Given the description of an element on the screen output the (x, y) to click on. 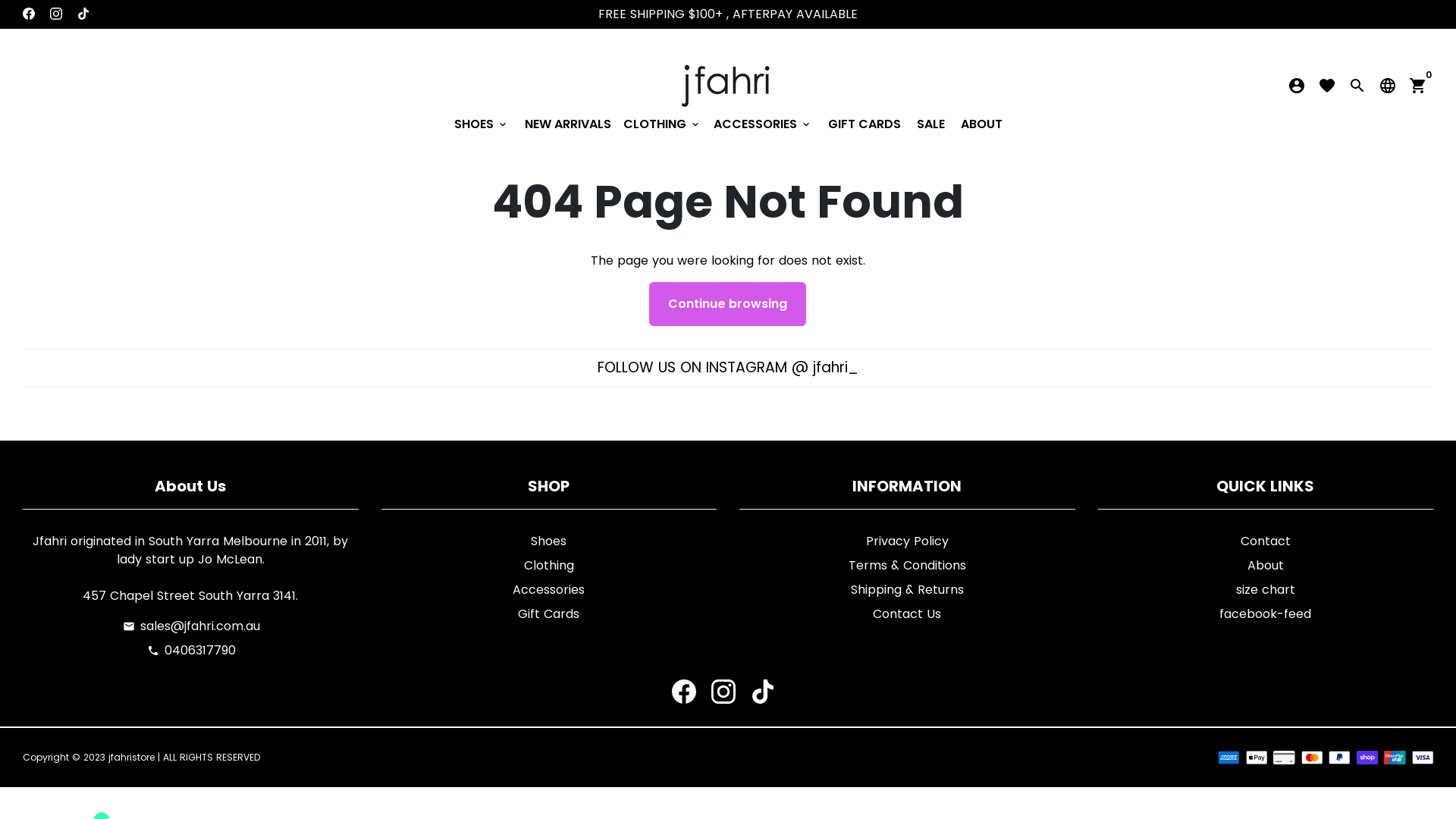
Terms & Conditions Element type: text (907, 565)
size chart Element type: text (1265, 589)
NEW ARRIVALS Element type: text (567, 124)
jfahristore on Tiktok Element type: hover (762, 691)
SHOES keyboard_arrow_down Element type: text (480, 124)
jfahristore Element type: text (131, 756)
Clothing Element type: text (549, 565)
jfahristore on Instagram Element type: hover (723, 691)
search Element type: text (1357, 85)
shopping_cart
0 Element type: text (1417, 85)
Shipping & Returns Element type: text (906, 589)
jfahristore on Facebook Element type: hover (28, 13)
Shoes Element type: text (548, 541)
jfahristore on Facebook Element type: hover (683, 691)
Accessories Element type: text (548, 589)
account_circle Element type: text (1296, 85)
facebook-feed Element type: text (1265, 614)
email sales@jfahri.com.au Element type: text (190, 626)
About Element type: text (1265, 565)
SALE Element type: text (930, 124)
phone 0406317790 Element type: text (190, 650)
Contact Us Element type: text (906, 614)
favorite Element type: text (1326, 85)
Gift Cards Element type: text (548, 614)
Skip to content Element type: text (0, 0)
ABOUT Element type: text (980, 124)
CLOTHING keyboard_arrow_down Element type: text (662, 124)
jfahristore on Instagram Element type: hover (56, 13)
Contact Element type: text (1265, 541)
GIFT CARDS Element type: text (864, 124)
ACCESSORIES keyboard_arrow_down Element type: text (761, 124)
language Element type: text (1387, 85)
Privacy Policy Element type: text (907, 541)
Continue browsing Element type: text (727, 304)
jfahristore on Tiktok Element type: hover (83, 13)
